Given the description of an element on the screen output the (x, y) to click on. 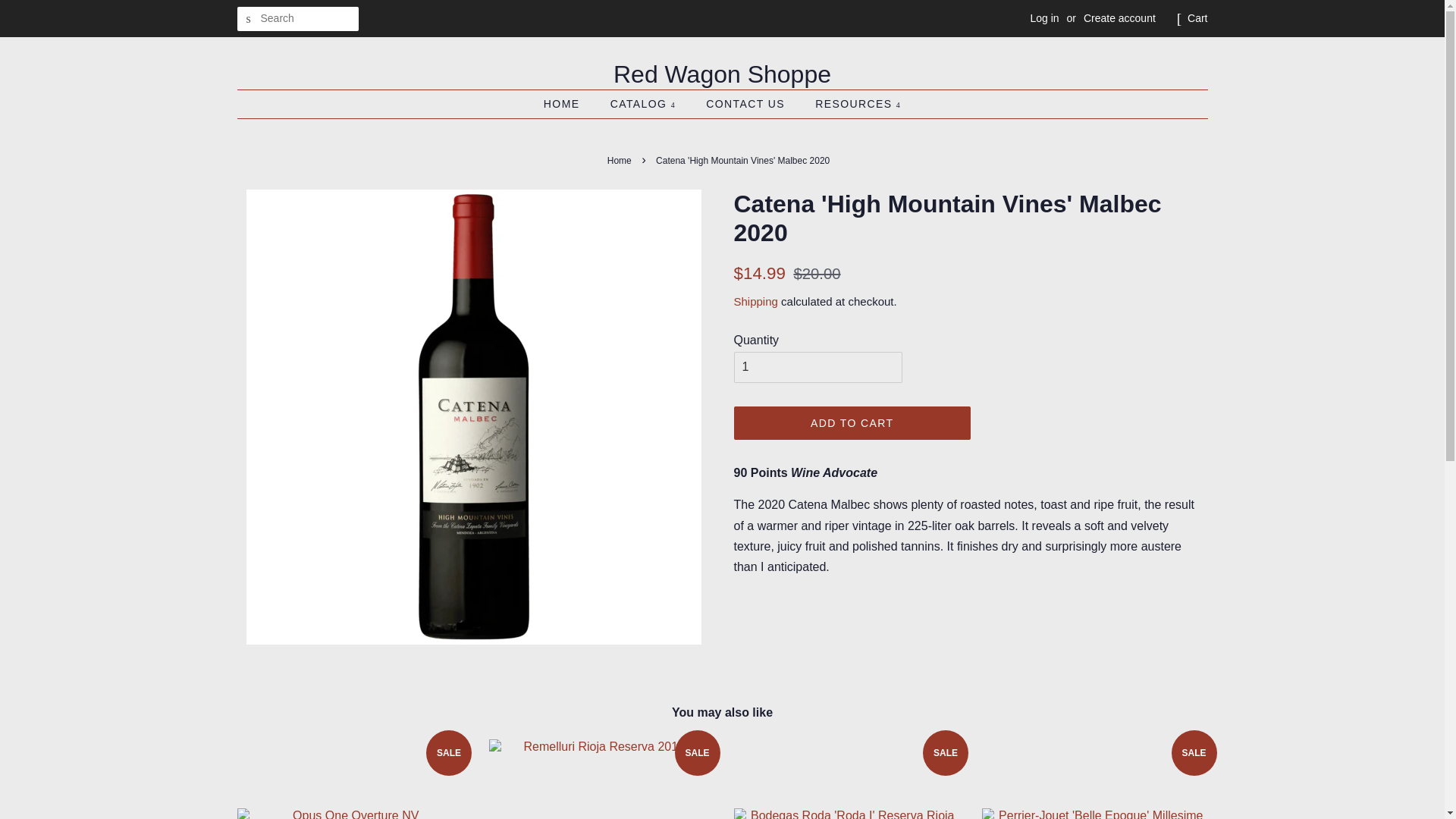
CATALOG (644, 104)
Back to the frontpage (620, 160)
Log in (1043, 18)
Red Wagon Shoppe (721, 73)
Create account (1119, 18)
SEARCH (247, 18)
Cart (1197, 18)
HOME (569, 104)
1 (817, 367)
